Given the description of an element on the screen output the (x, y) to click on. 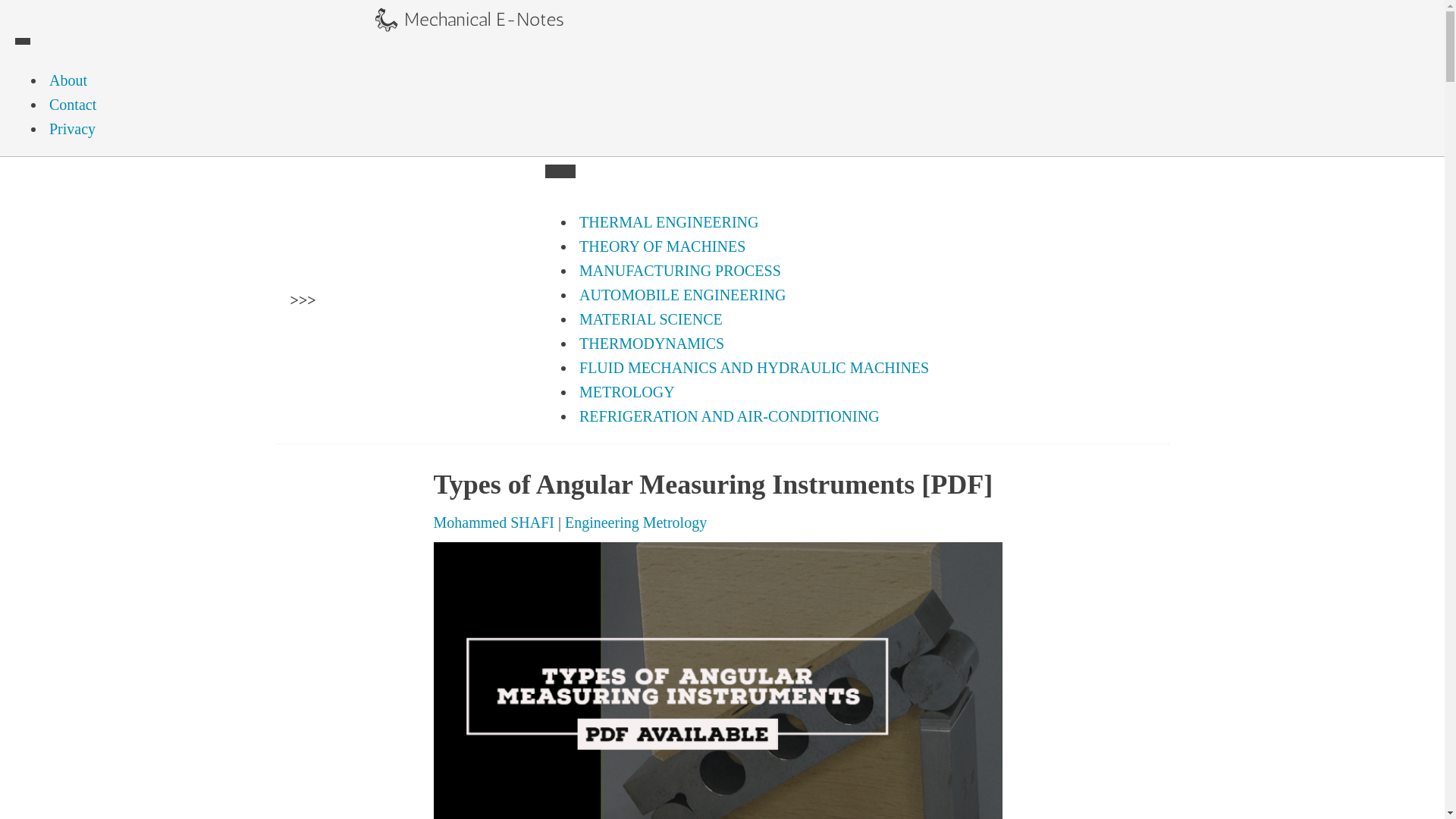
AUTOMOBILE ENGINEERING (682, 294)
MANUFACTURING PROCESS (679, 270)
Mohammed SHAFI (493, 522)
MATERIAL SCIENCE (650, 319)
REFRIGERATION AND AIR-CONDITIONING (729, 416)
METROLOGY (626, 392)
Privacy (72, 128)
FLUID MECHANICS AND HYDRAULIC MACHINES (754, 367)
About (67, 80)
THERMAL ENGINEERING (668, 221)
